Given the description of an element on the screen output the (x, y) to click on. 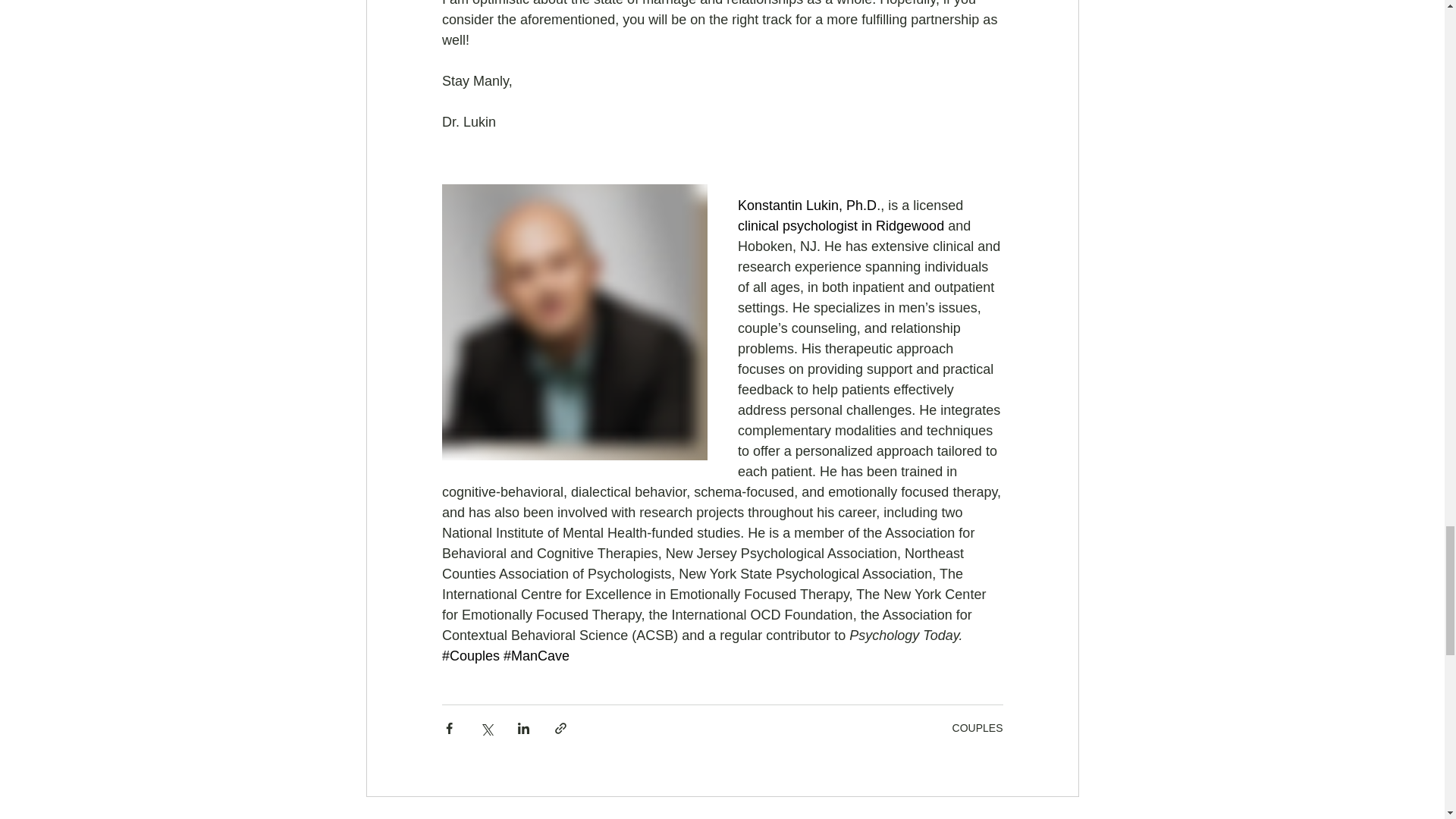
clinical psychologist in Ridgewood (839, 225)
Konstantin Lukin, Ph.D (806, 205)
COUPLES (977, 727)
